Given the description of an element on the screen output the (x, y) to click on. 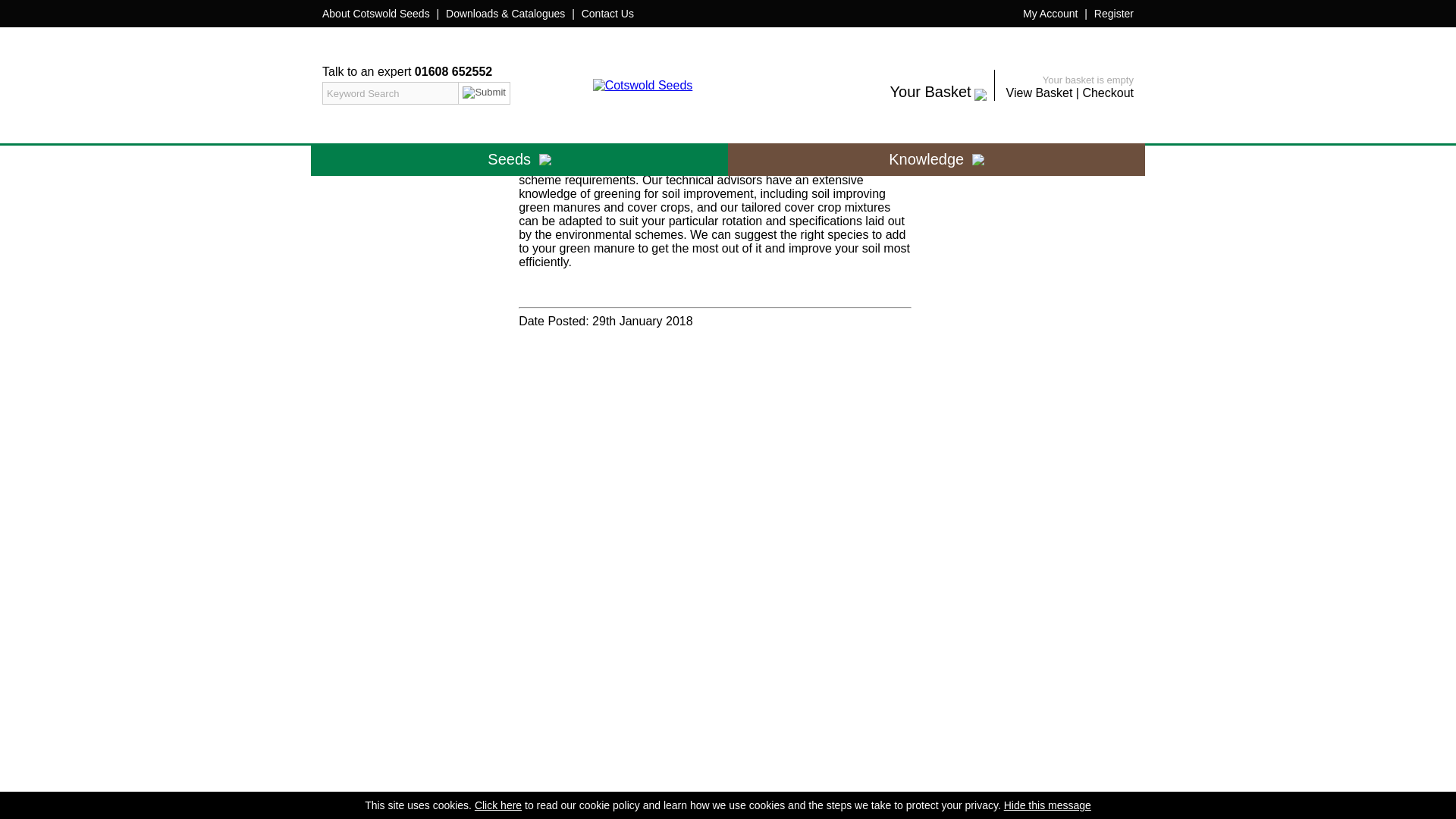
Checkout (1107, 92)
Submit (483, 92)
Register (1114, 13)
View Basket (1039, 92)
Seeds (519, 159)
Contact Us (606, 13)
About Cotswold Seeds (375, 13)
My Account (1050, 13)
